Given the description of an element on the screen output the (x, y) to click on. 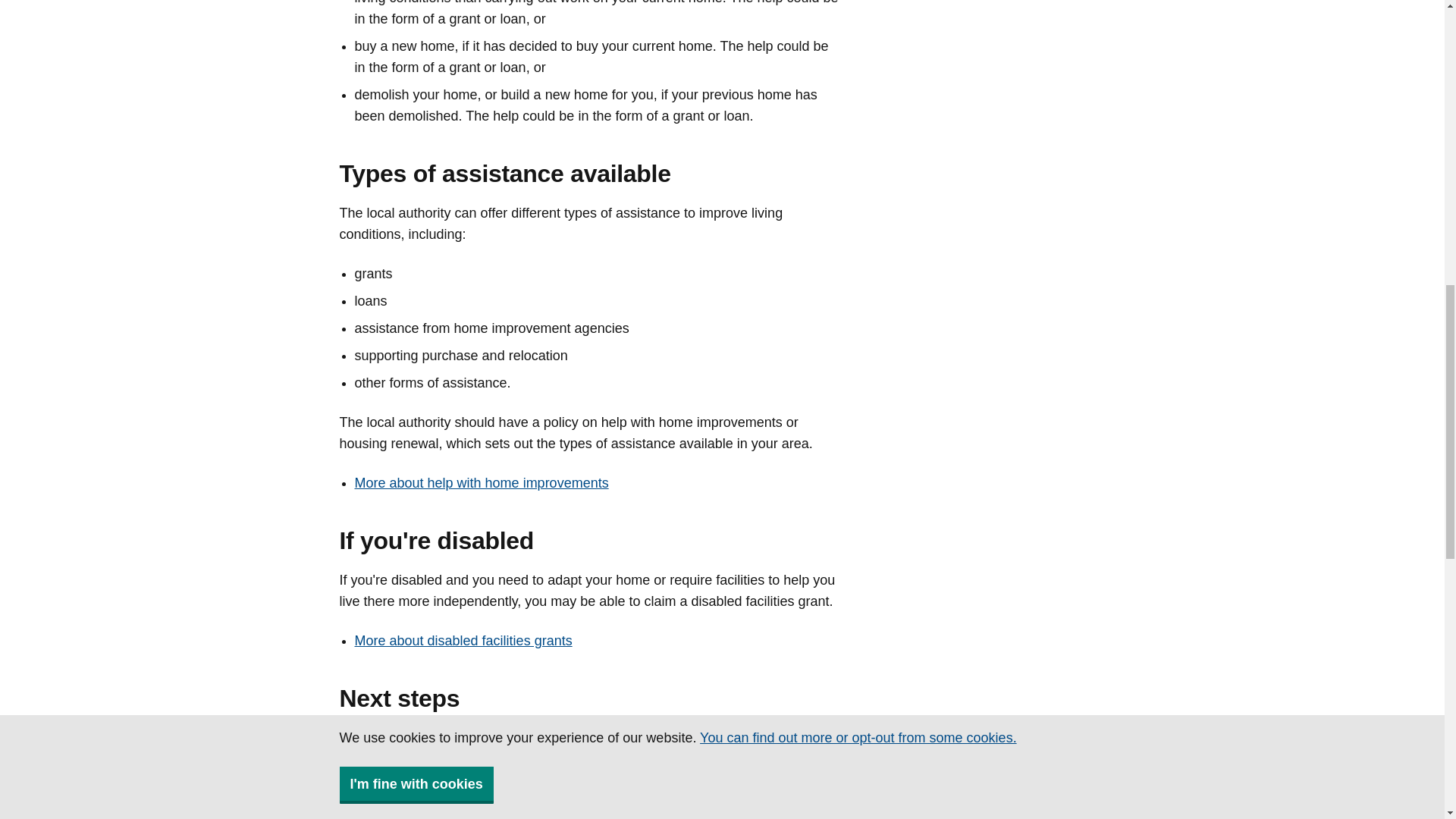
Common repair problems (431, 765)
More about disabled facilities grants (463, 640)
More about help with home improvements (481, 482)
